Given the description of an element on the screen output the (x, y) to click on. 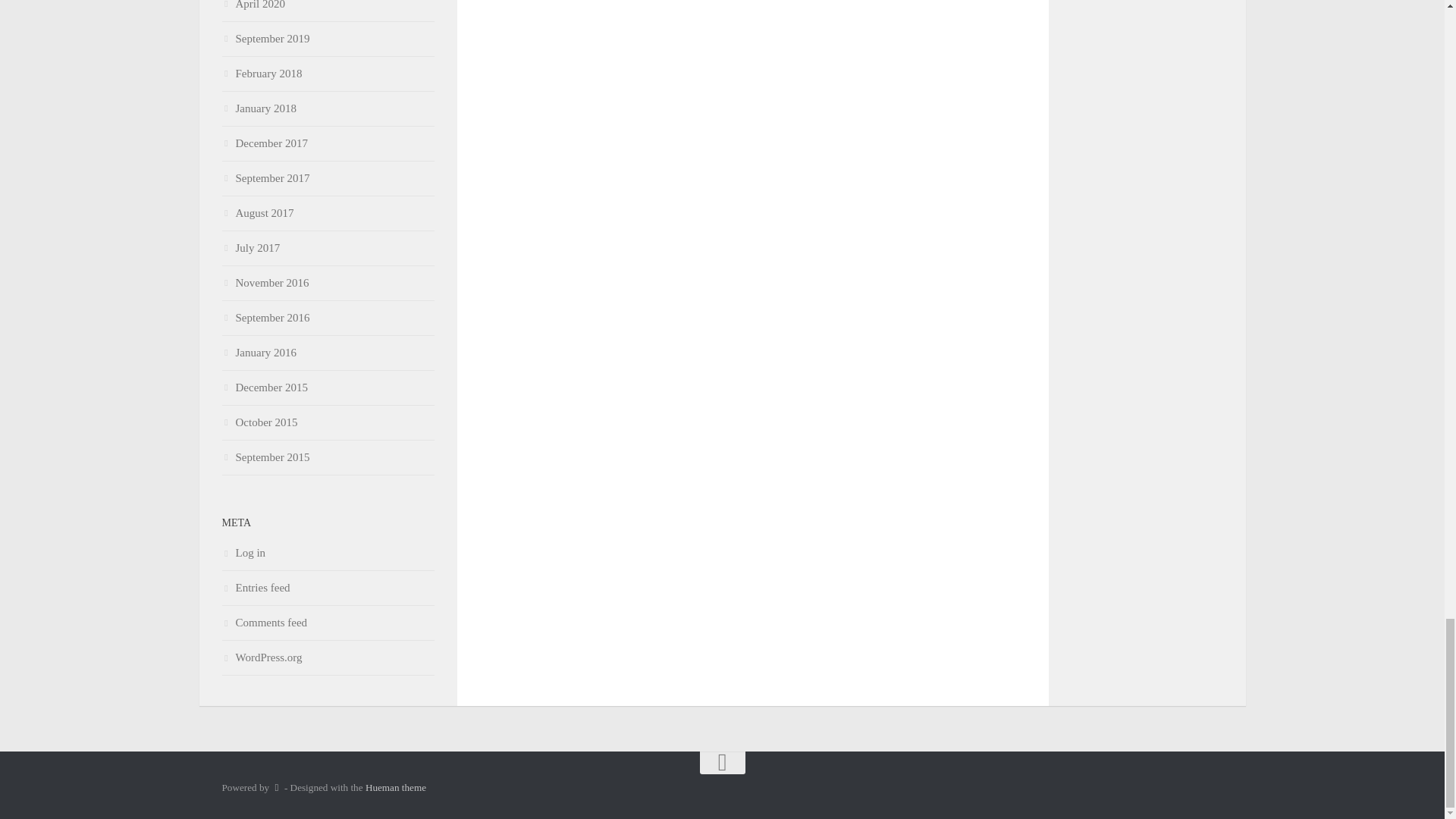
Powered by WordPress (275, 787)
Hueman theme (395, 787)
